Given the description of an element on the screen output the (x, y) to click on. 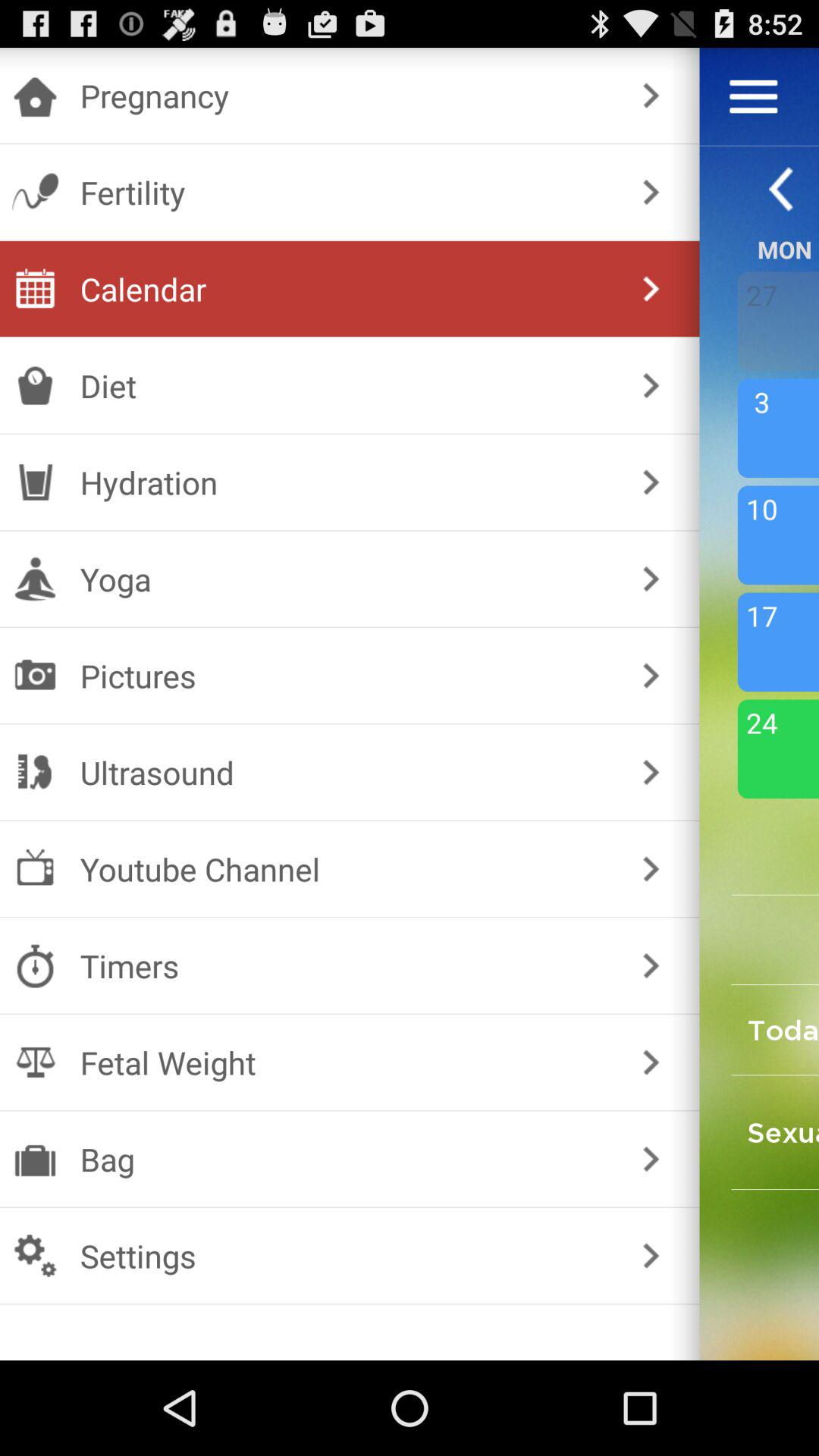
turn off the icon below youtube channel item (346, 965)
